Given the description of an element on the screen output the (x, y) to click on. 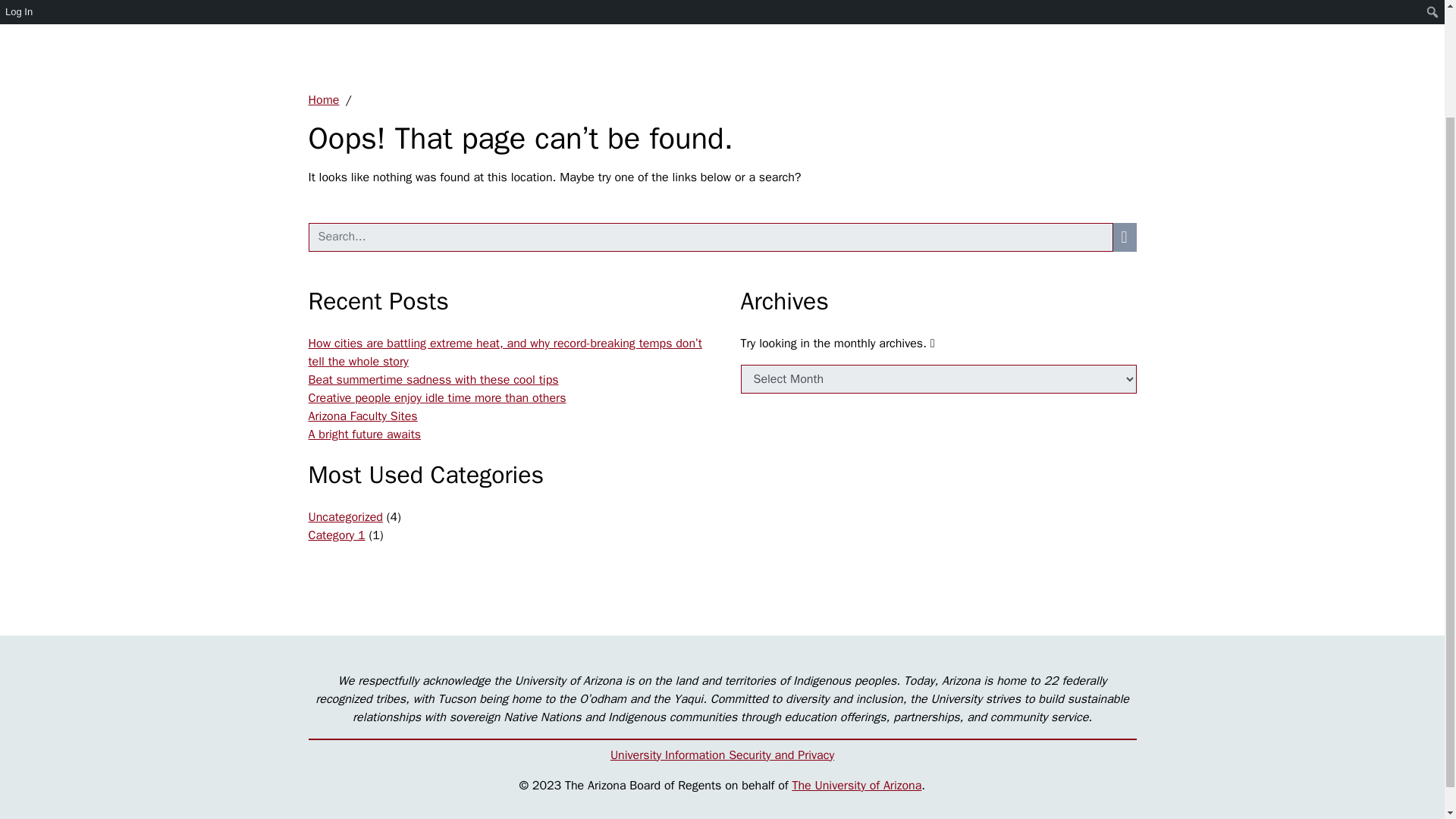
A bright future awaits (363, 434)
Arizona Faculty Sites (361, 416)
Creative people enjoy idle time more than others (436, 397)
Beat summertime sadness with these cool tips (432, 379)
Uncategorized (344, 516)
Home (323, 99)
University Information Security and Privacy (722, 754)
Category 1 (336, 534)
The University of Arizona (856, 785)
